Given the description of an element on the screen output the (x, y) to click on. 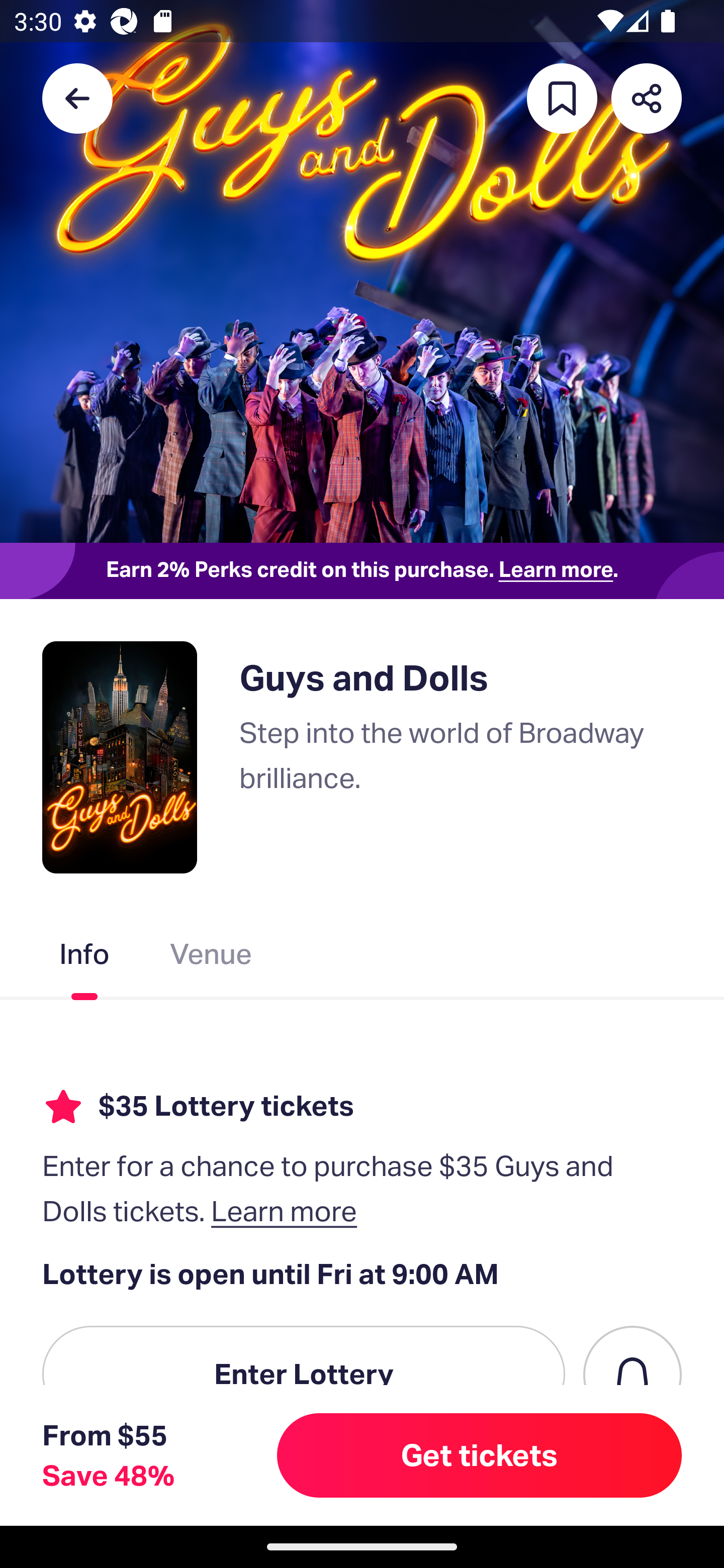
Earn 2% Perks credit on this purchase. Learn more. (362, 570)
Venue (210, 957)
Enter Lottery (303, 1374)
Get tickets (479, 1454)
